Given the description of an element on the screen output the (x, y) to click on. 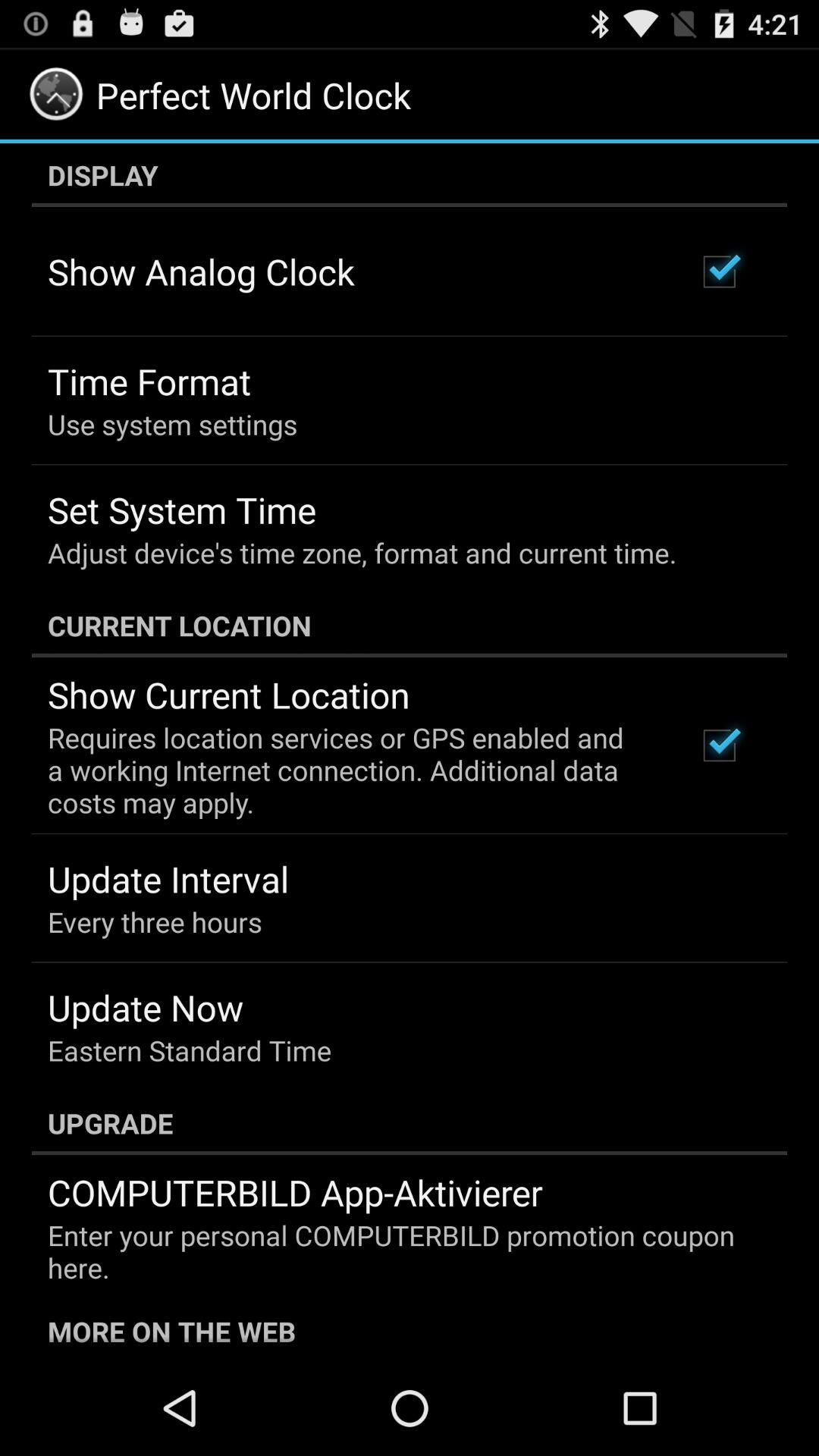
launch the adjust device s icon (361, 552)
